Given the description of an element on the screen output the (x, y) to click on. 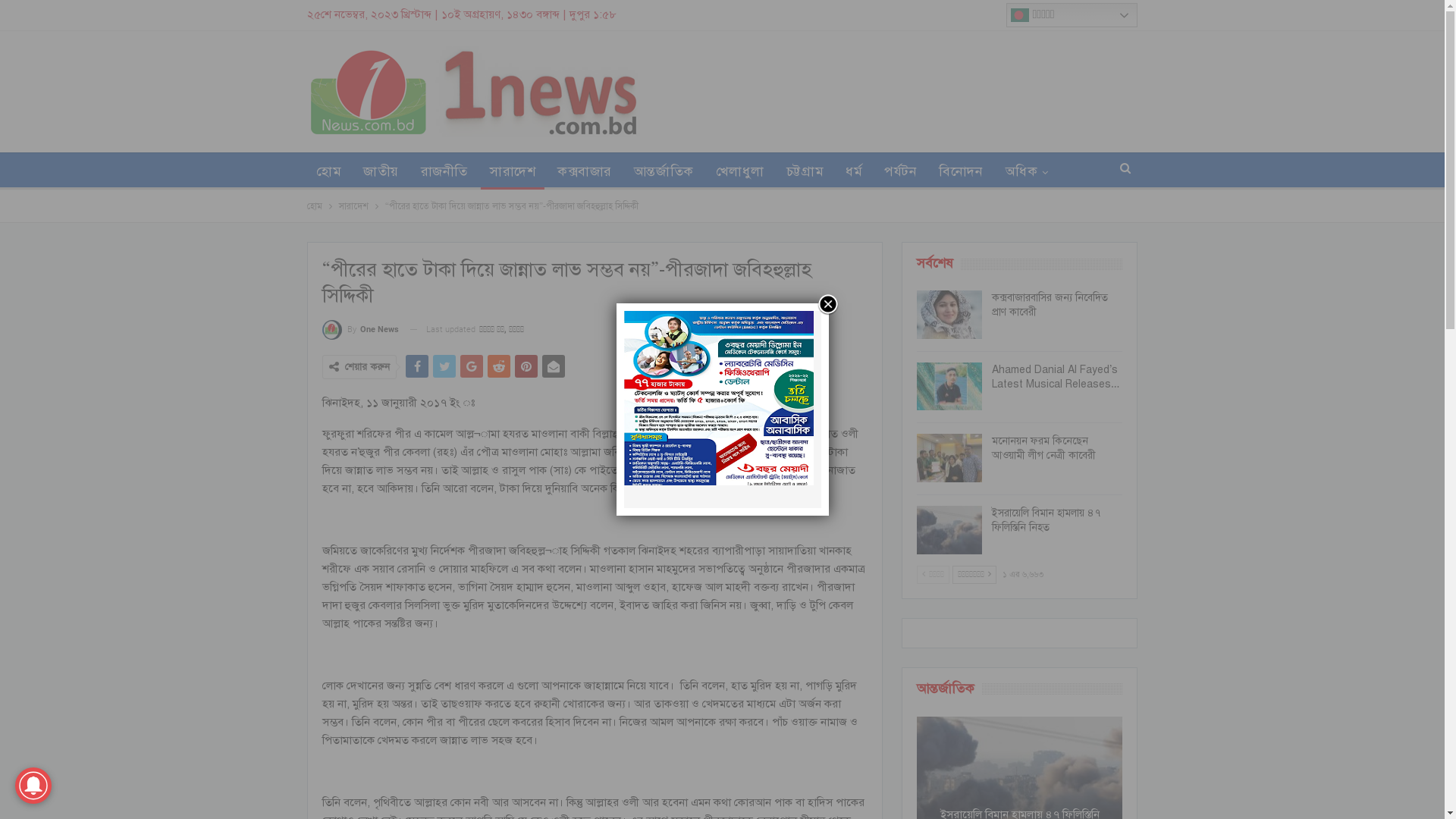
By One News Element type: text (360, 329)
